Given the description of an element on the screen output the (x, y) to click on. 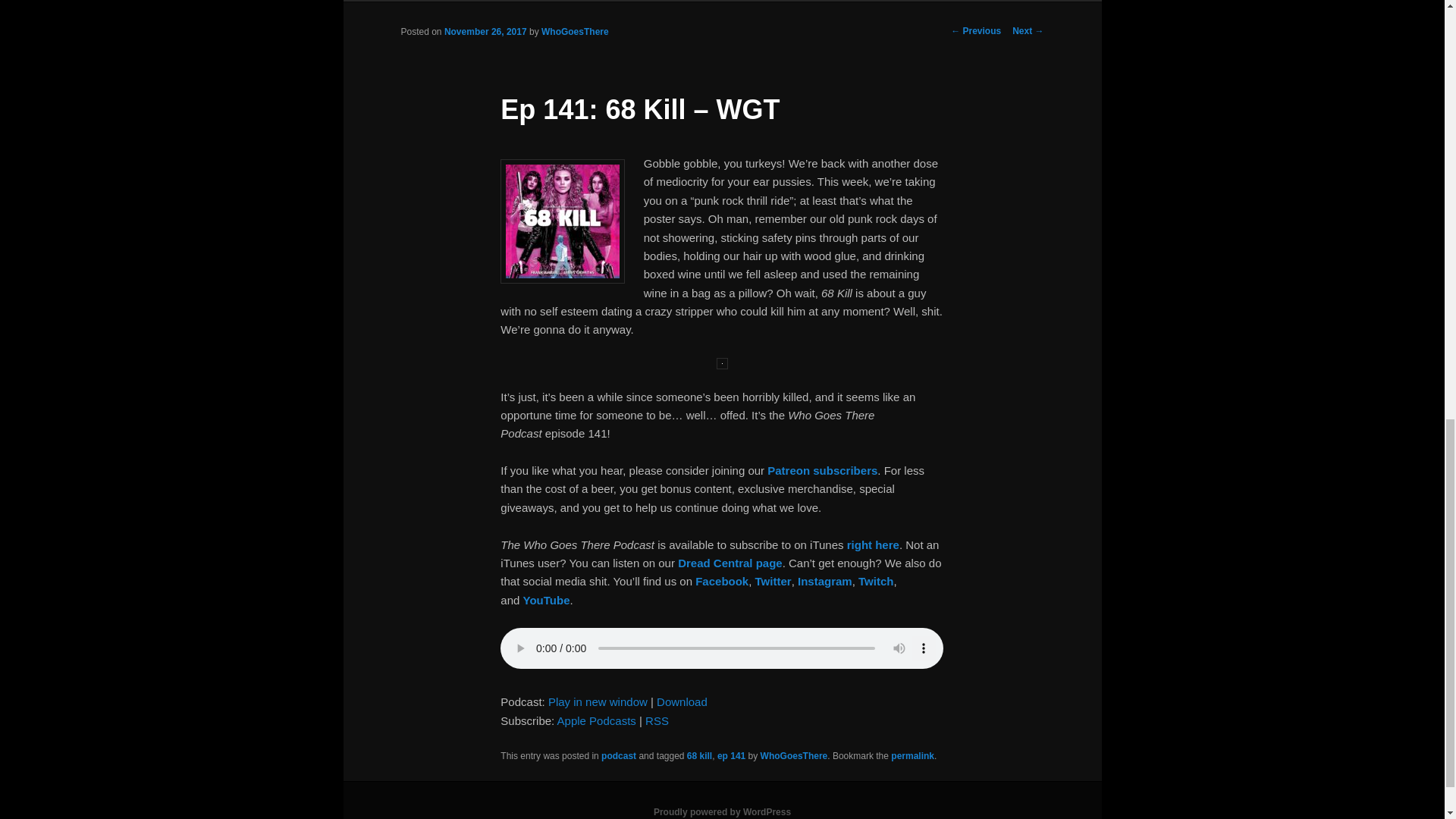
Subscribe on Apple Podcasts (596, 720)
Patreon subscribers (822, 470)
Apple Podcasts (596, 720)
Patreon (609, 0)
ep 141 (731, 756)
Dread Central page (730, 562)
Proudly powered by WordPress (721, 811)
November 26, 2017 (485, 31)
View all posts by WhoGoesThere (574, 31)
